Given the description of an element on the screen output the (x, y) to click on. 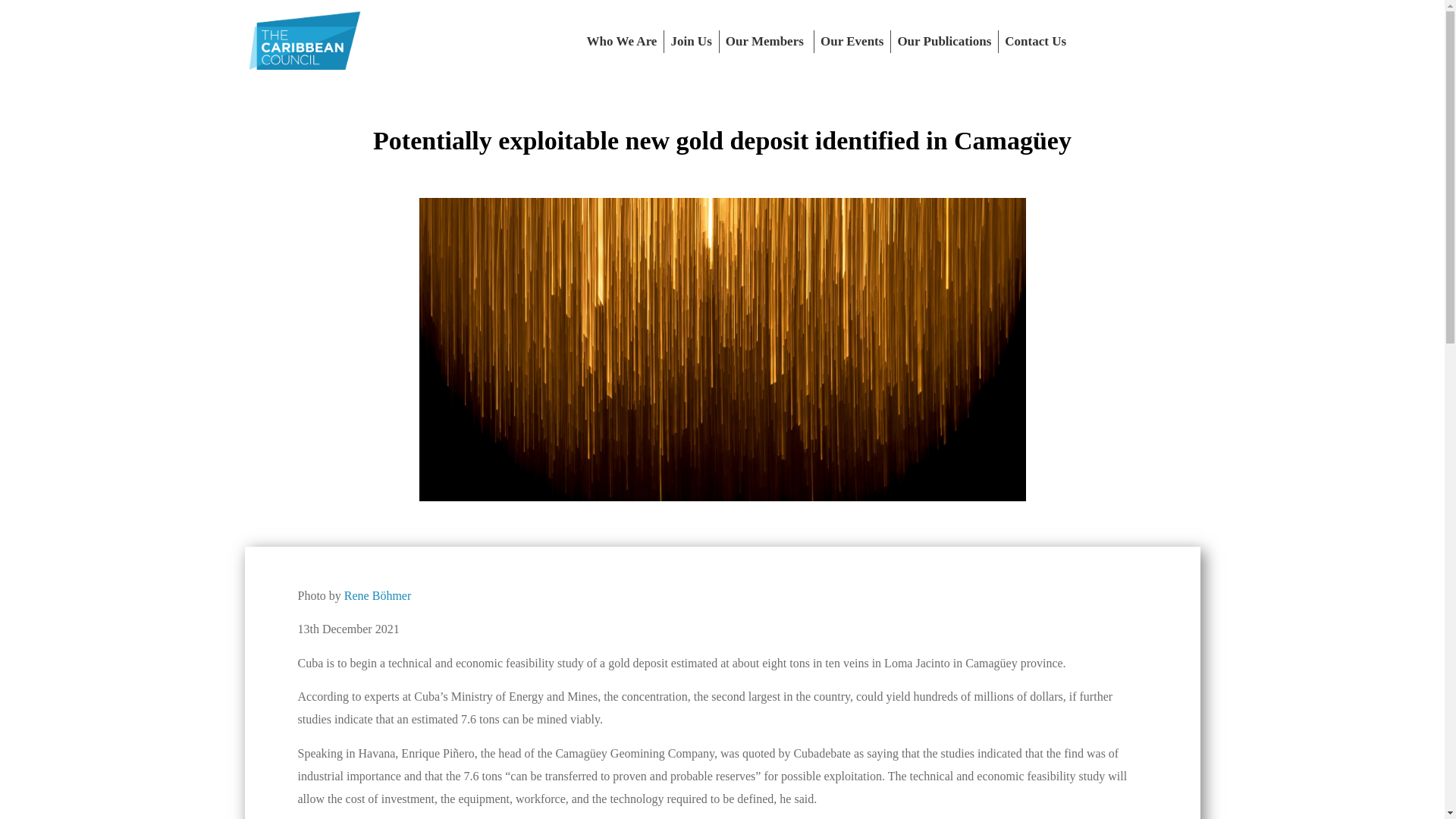
Join Us (690, 41)
Who We Are (621, 41)
Our Members  (766, 41)
Our Events (851, 41)
Our Publications (943, 41)
Contact Us (1035, 41)
